Given the description of an element on the screen output the (x, y) to click on. 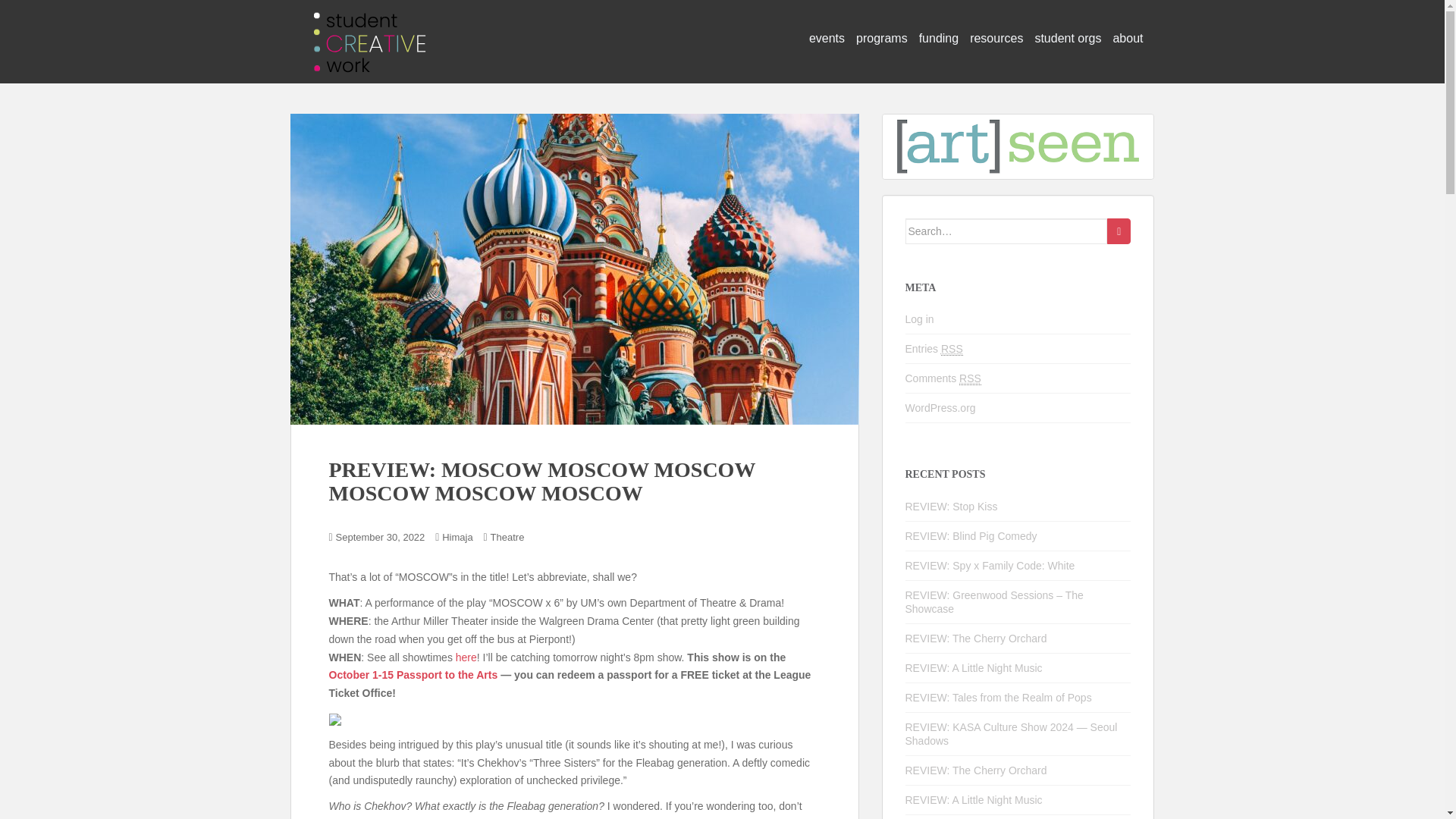
Really Simple Syndication (951, 349)
programs (881, 38)
October 1-15 Passport to the Arts (413, 674)
REVIEW: Stop Kiss (951, 506)
REVIEW: A Little Night Music (973, 667)
WordPress.org (940, 408)
funding (938, 38)
events (826, 38)
about (1127, 38)
REVIEW: Spy x Family Code: White (990, 565)
REVIEW: Blind Pig Comedy (970, 535)
REVIEW: The Cherry Orchard (975, 770)
resources (996, 38)
REVIEW: The Cherry Orchard (975, 638)
REVIEW: Tales from the Realm of Pops (998, 697)
